Given the description of an element on the screen output the (x, y) to click on. 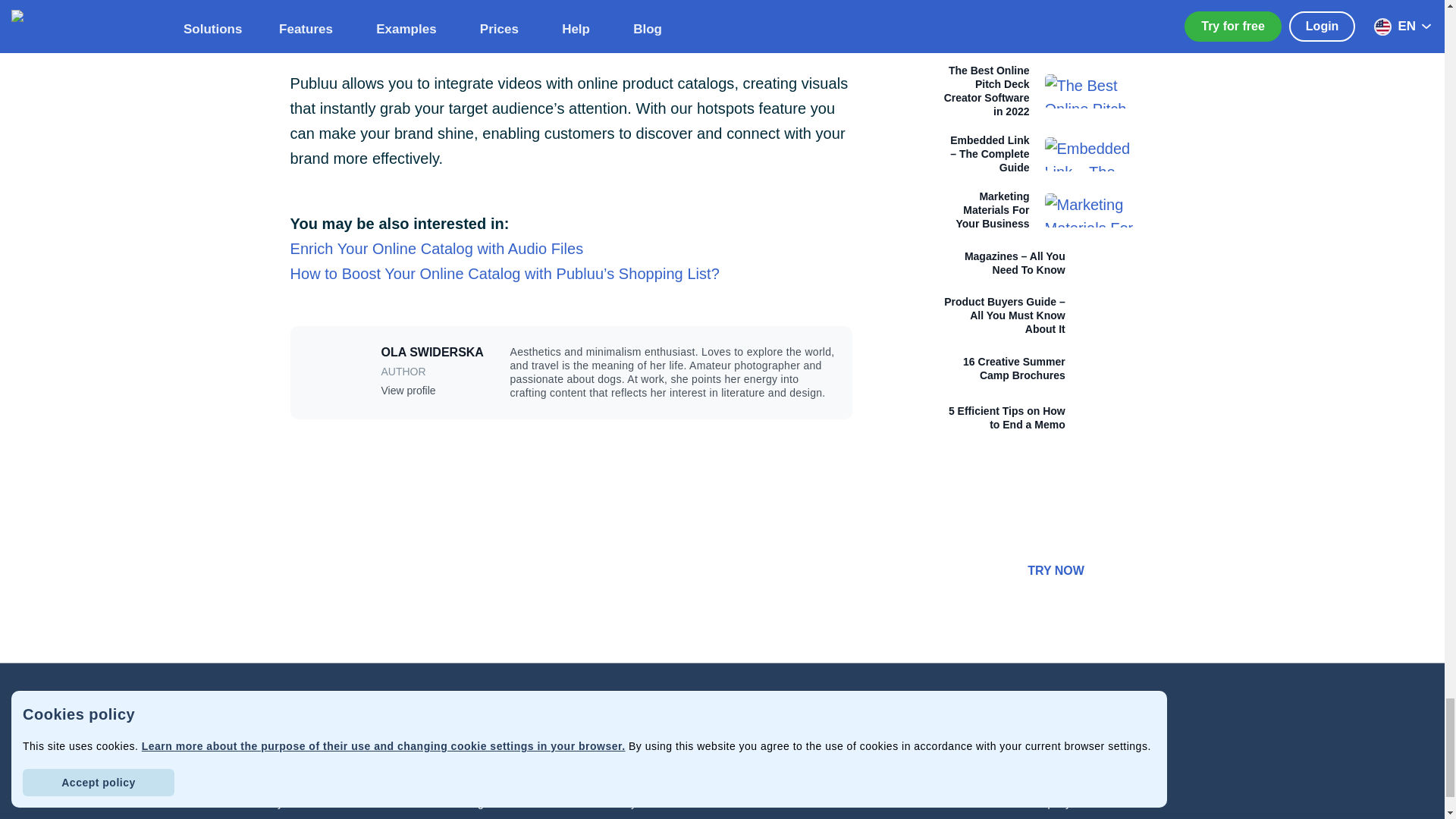
What is a Flipbook? (797, 729)
Privacy statement (646, 754)
Blog (797, 778)
Refund policy (646, 802)
Price plan (343, 778)
Virtual Bookshelf (494, 729)
Cookie policy (646, 778)
Try for free (343, 802)
Statistics (494, 778)
Mobile Application (494, 754)
